Given the description of an element on the screen output the (x, y) to click on. 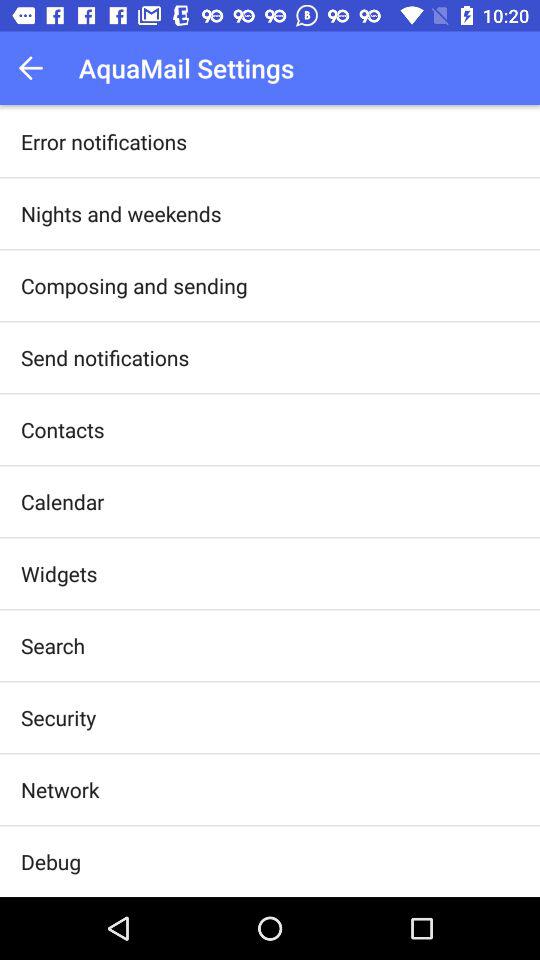
choose the app to the left of the aquamail settings app (36, 68)
